Given the description of an element on the screen output the (x, y) to click on. 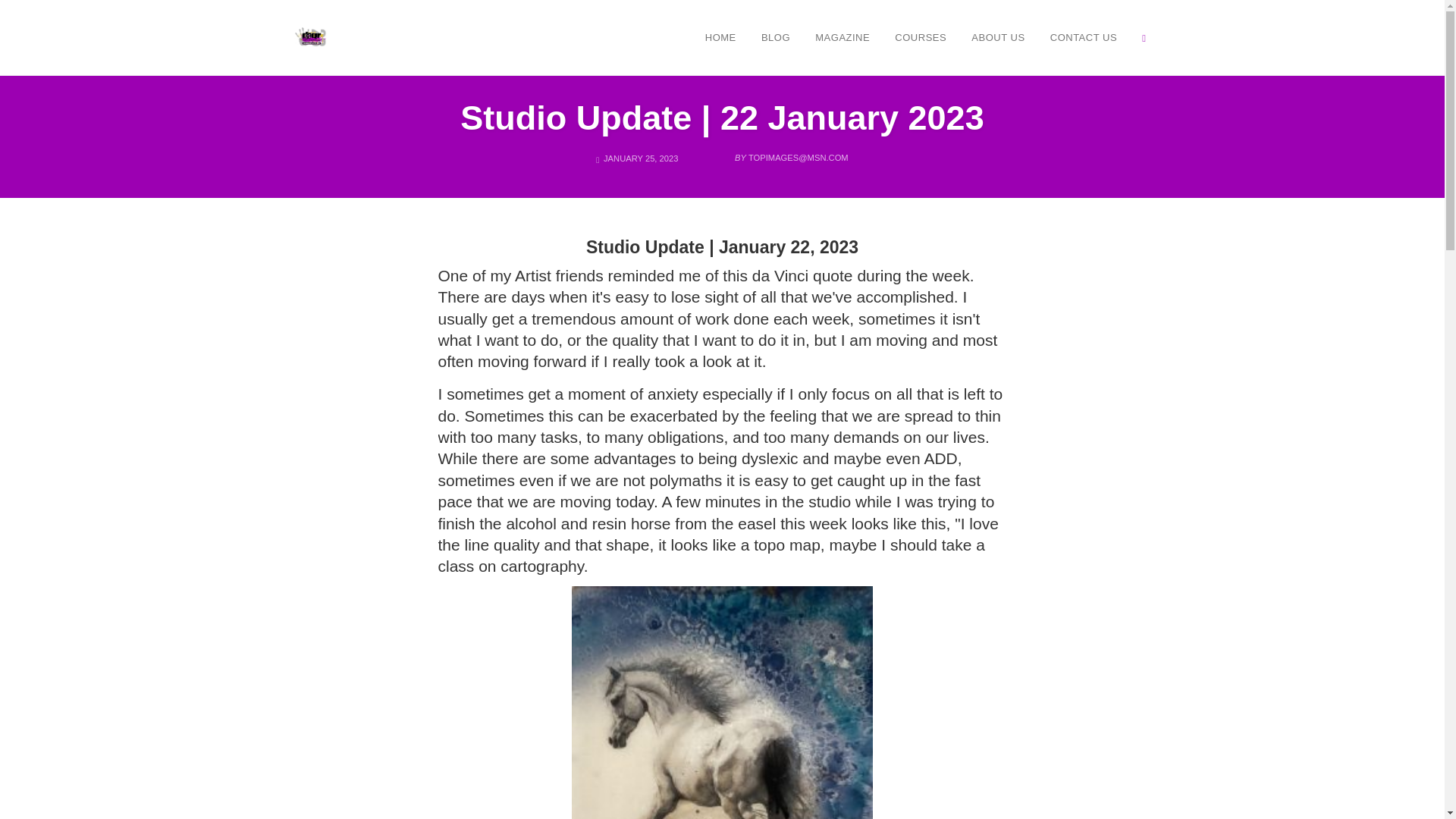
BLOG (774, 37)
Digital Art Goes Rogue (310, 37)
COURSES (920, 37)
CONTACT US (1083, 37)
ABOUT US (997, 37)
HOME (720, 37)
MAGAZINE (841, 37)
OPEN SEARCH FORM (1144, 37)
